Given the description of an element on the screen output the (x, y) to click on. 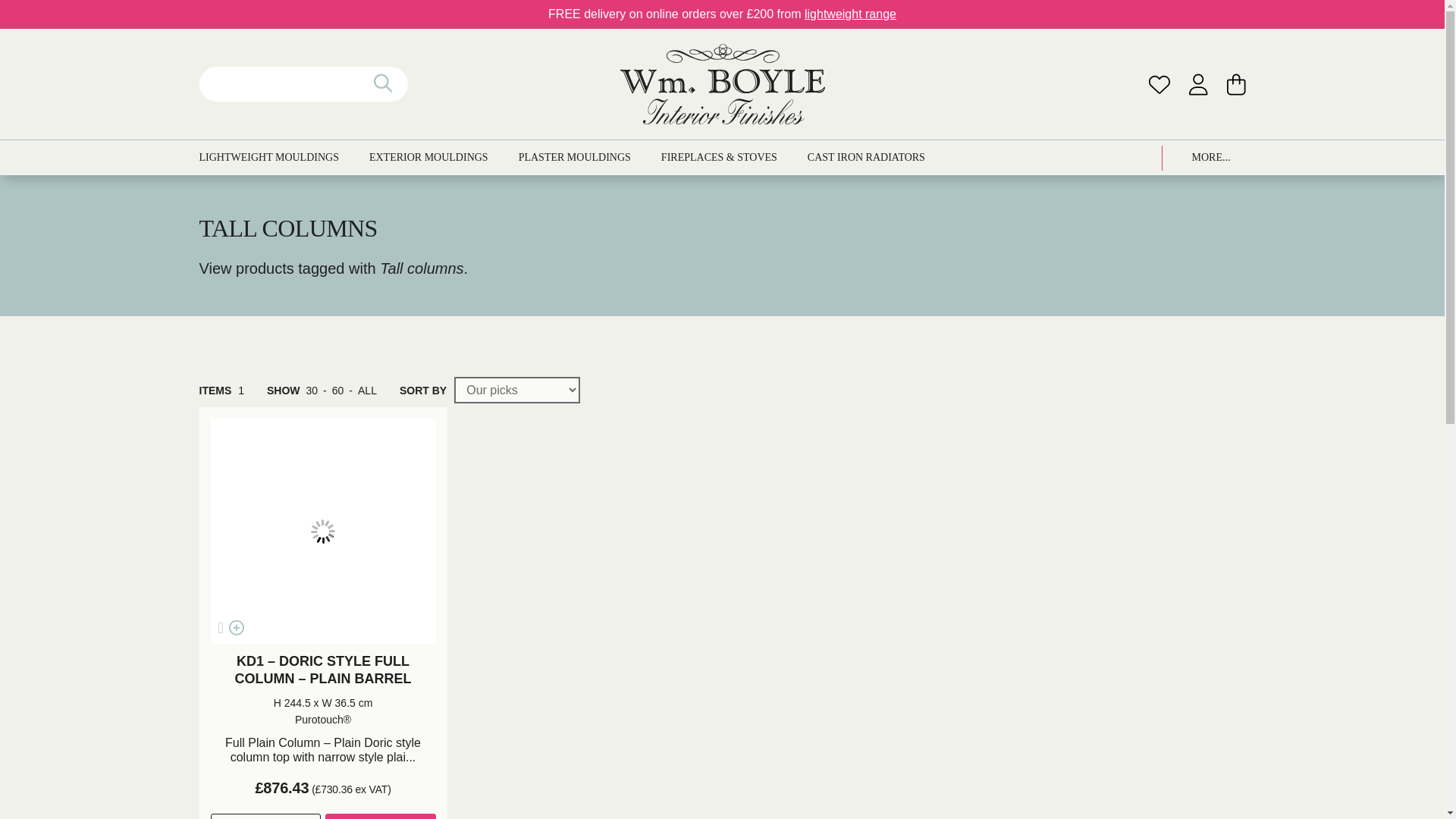
Home (722, 84)
Account (1198, 83)
LIGHTWEIGHT MOULDINGS (267, 157)
Search (25, 9)
CAST IRON RADIATORS (866, 157)
Wishlist (1158, 83)
PLASTER MOULDINGS (574, 157)
EXTERIOR MOULDINGS (428, 157)
lightweight range (850, 13)
